Given the description of an element on the screen output the (x, y) to click on. 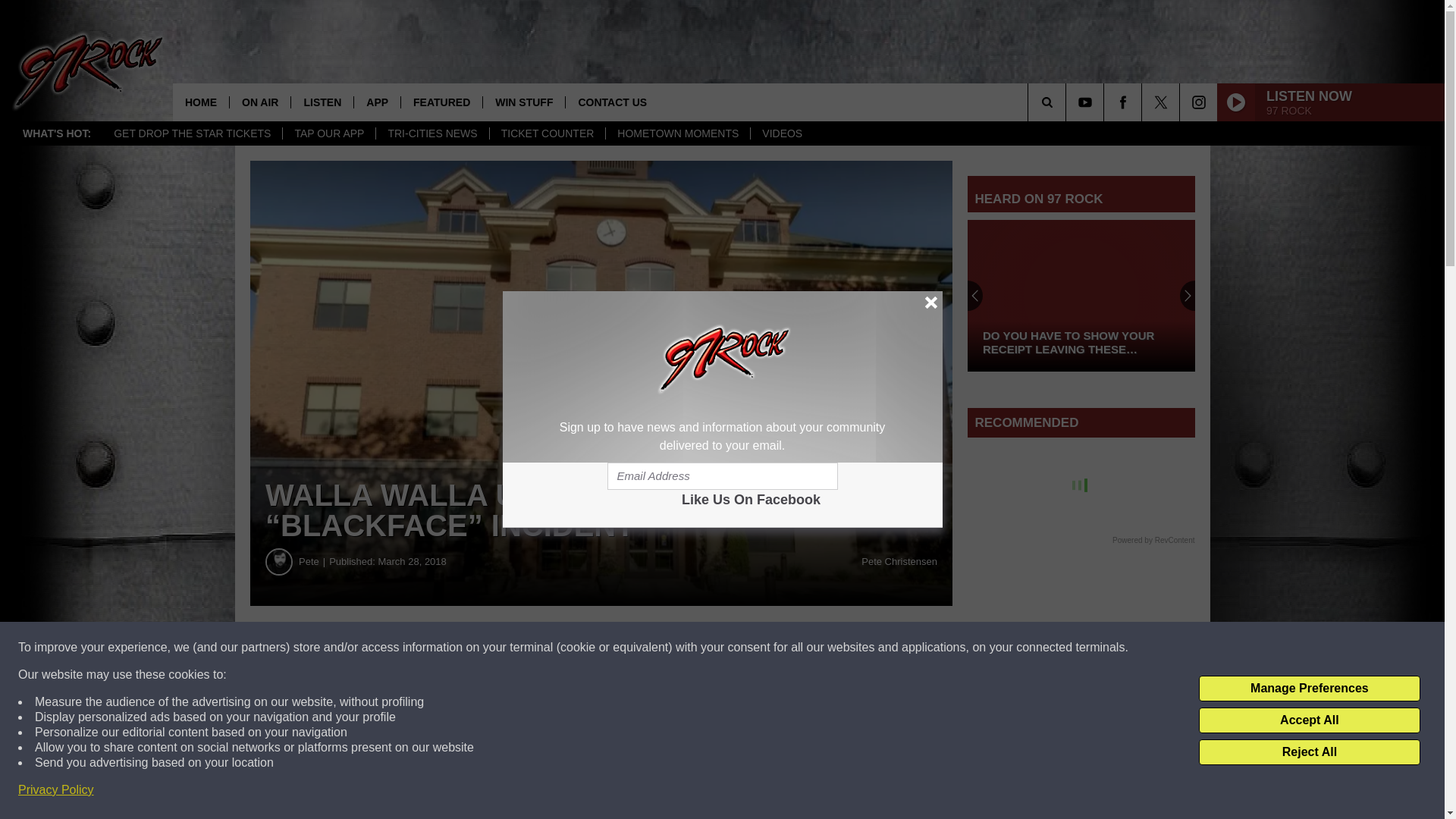
TAP OUR APP (328, 133)
Accept All (1309, 720)
Share on Twitter (741, 647)
VIDEOS (781, 133)
SEARCH (1068, 102)
APP (376, 102)
LISTEN (321, 102)
Reject All (1309, 751)
TICKET COUNTER (547, 133)
FEATURED (440, 102)
Email Address (722, 475)
TRI-CITIES NEWS (431, 133)
SEARCH (1068, 102)
ON AIR (258, 102)
Privacy Policy (55, 789)
